Given the description of an element on the screen output the (x, y) to click on. 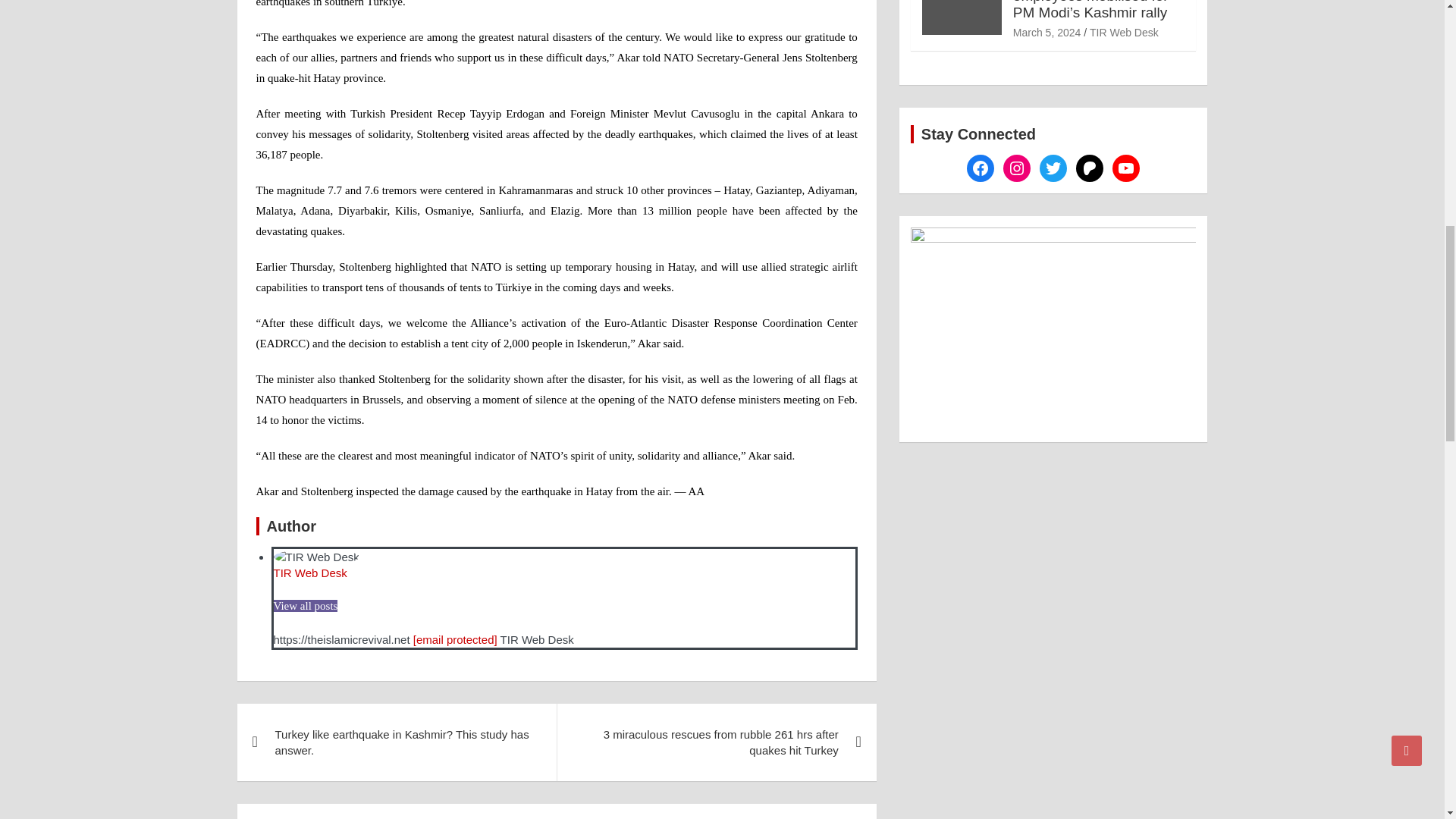
TIR Web Desk (309, 572)
Turkey like earthquake in Kashmir? This study has answer. (395, 742)
View all posts (305, 605)
View all posts (305, 605)
TIR Web Desk (309, 572)
